Given the description of an element on the screen output the (x, y) to click on. 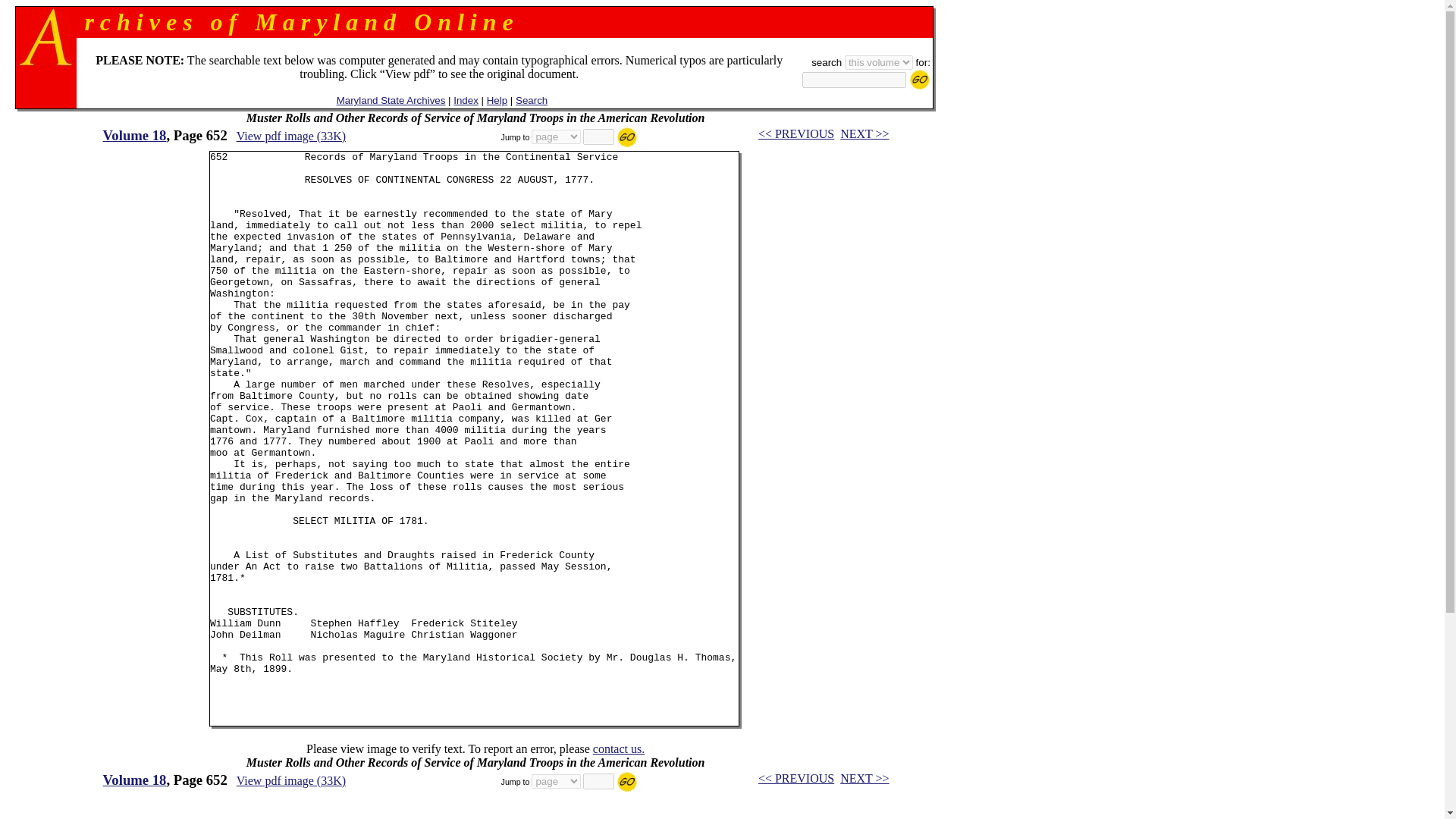
Help (496, 100)
Index (465, 100)
contact us. (618, 748)
Search (531, 100)
Volume 18 (135, 135)
Maryland State Archives (390, 100)
Volume 18 (135, 779)
